Given the description of an element on the screen output the (x, y) to click on. 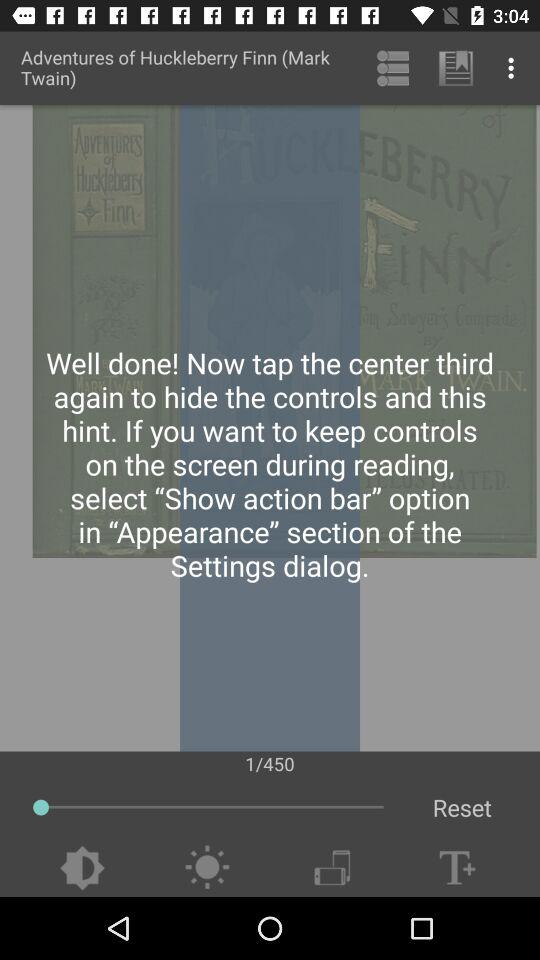
open brightness menu (206, 867)
